Given the description of an element on the screen output the (x, y) to click on. 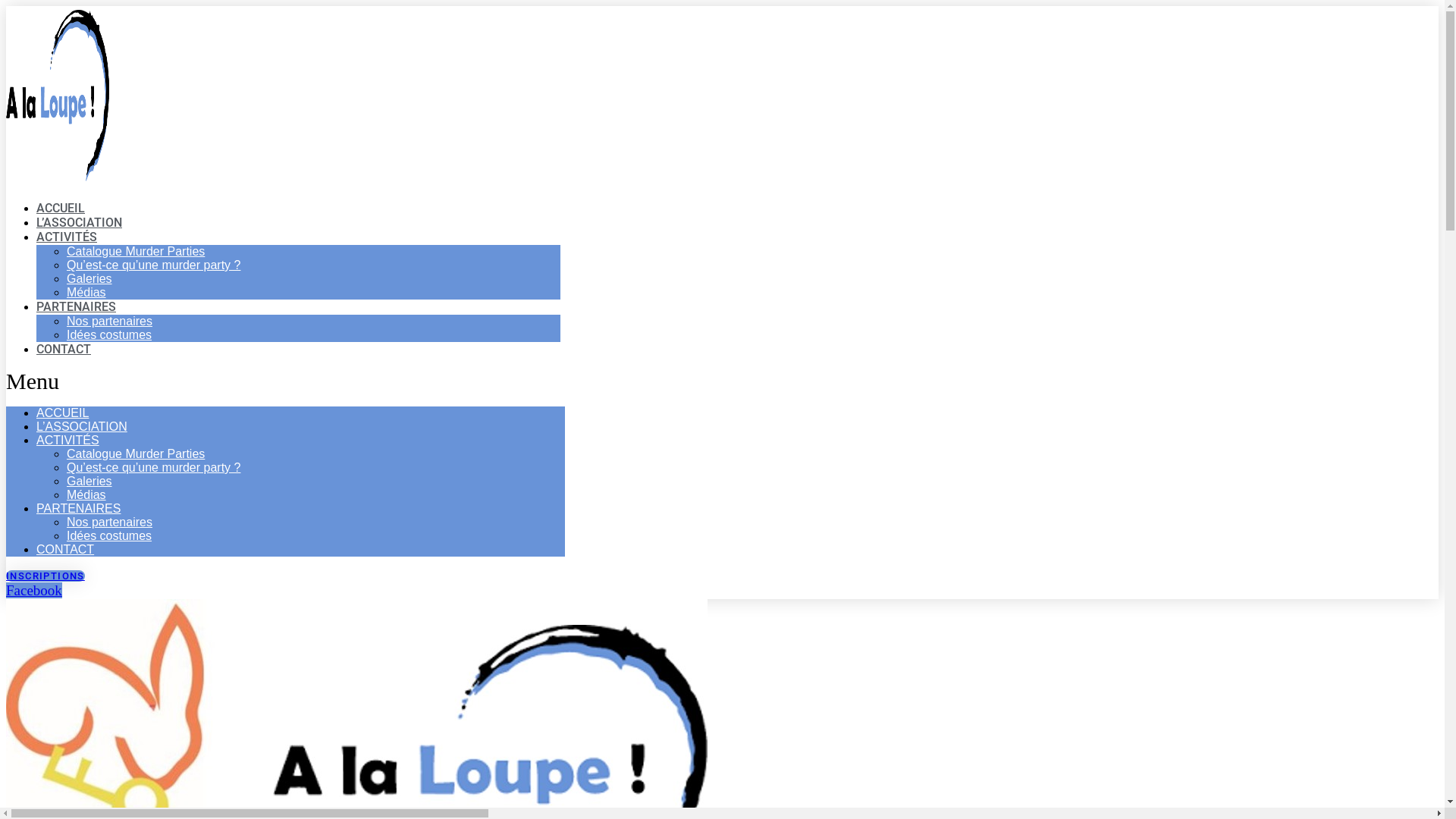
CONTACT Element type: text (63, 348)
Galeries Element type: text (89, 278)
ACCUEIL Element type: text (62, 412)
Nos partenaires Element type: text (109, 521)
Catalogue Murder Parties Element type: text (135, 250)
PARTENAIRES Element type: text (76, 306)
Catalogue Murder Parties Element type: text (135, 453)
Galeries Element type: text (89, 480)
INSCRIPTIONS Element type: text (45, 575)
PARTENAIRES Element type: text (78, 508)
Facebook Element type: text (34, 590)
CONTACT Element type: text (65, 548)
ACCUEIL Element type: text (60, 207)
Nos partenaires Element type: text (109, 320)
